Given the description of an element on the screen output the (x, y) to click on. 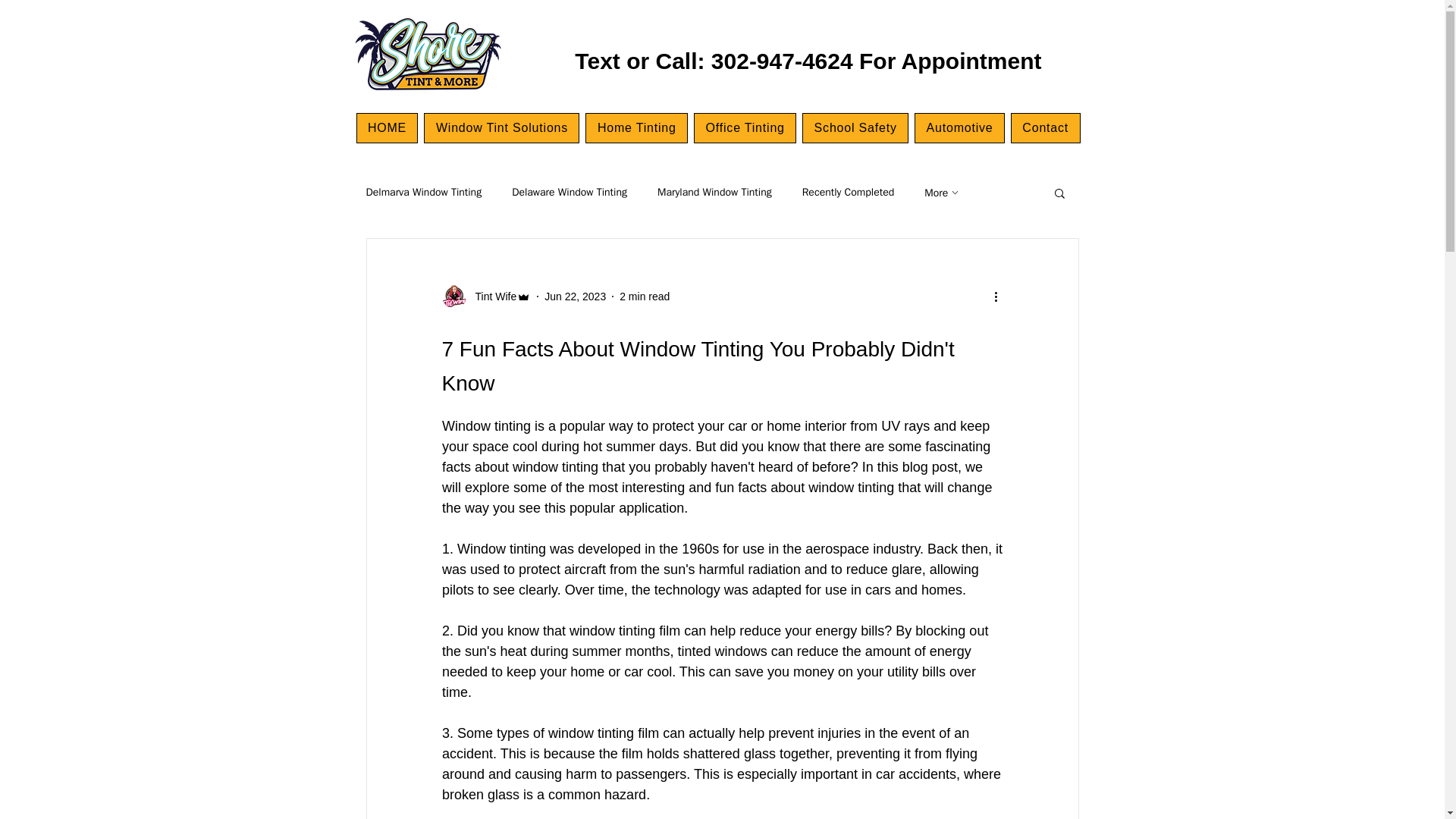
Shore Tint and More Inc company Logo (427, 54)
2 min read (644, 295)
HOME (387, 128)
Jun 22, 2023 (574, 295)
Office Tinting (745, 128)
Home Tinting (636, 128)
Tint Wife (490, 295)
